Given the description of an element on the screen output the (x, y) to click on. 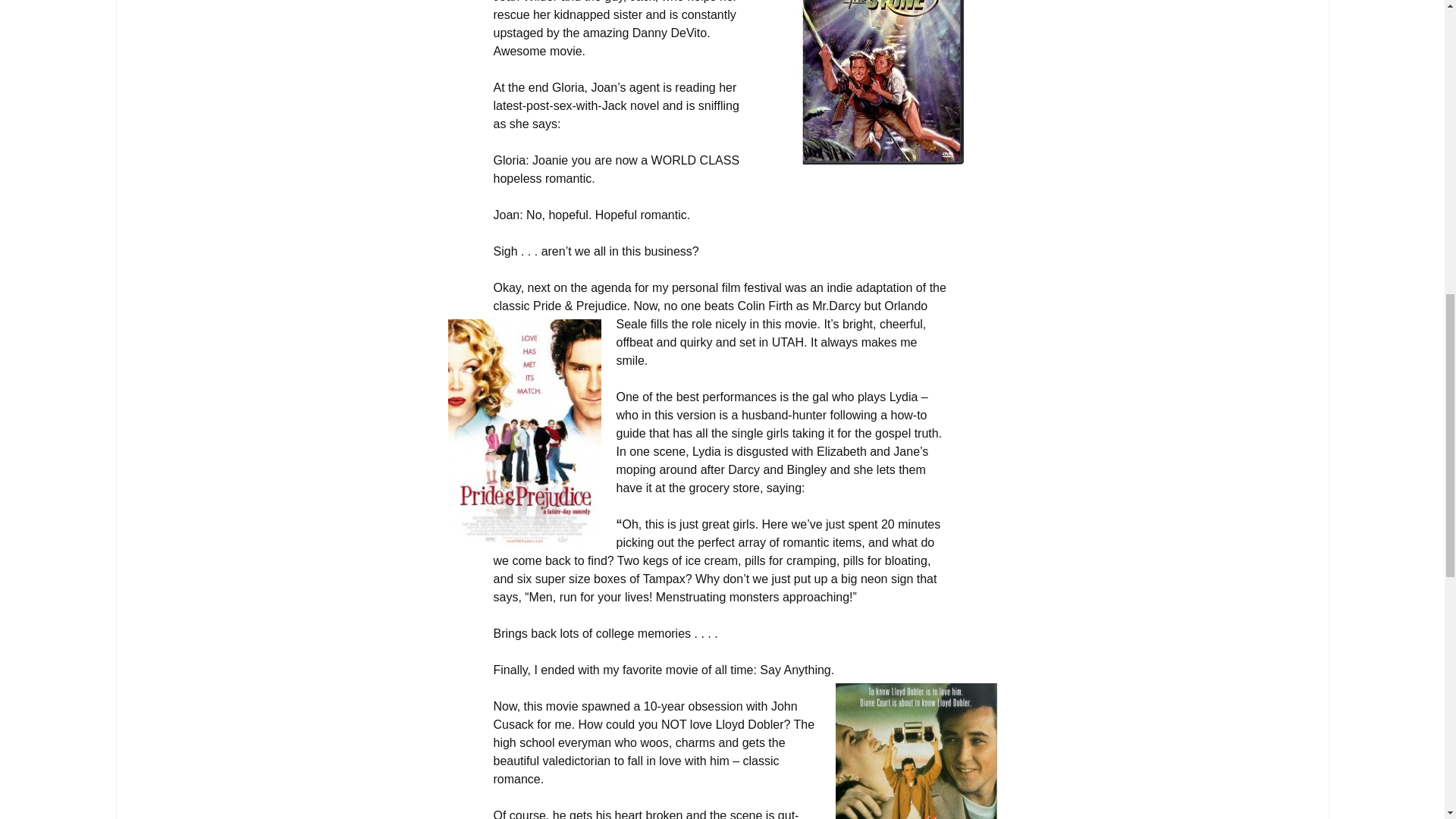
Romancing the stone (881, 82)
